Given the description of an element on the screen output the (x, y) to click on. 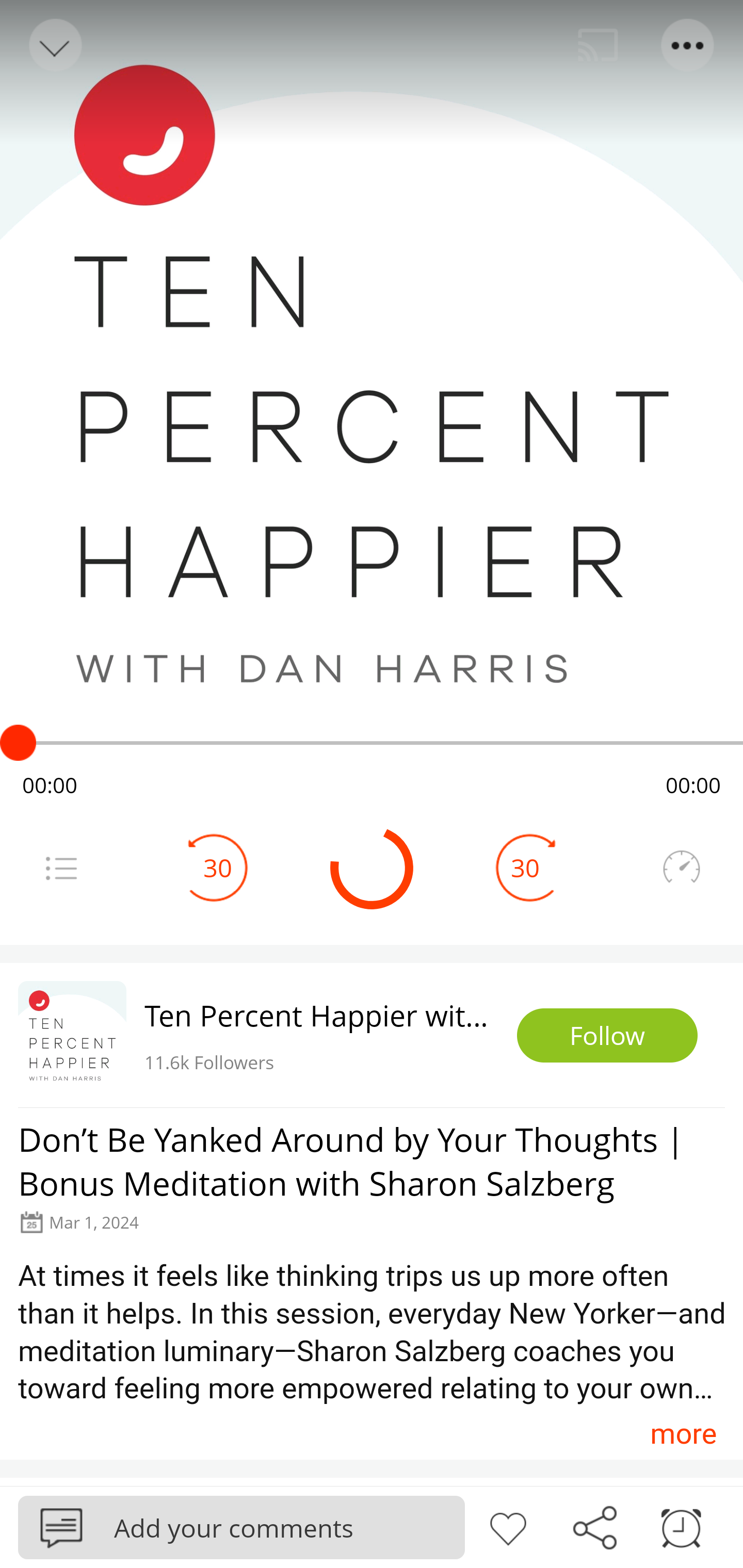
Back (53, 45)
Cast. Disconnected (597, 45)
Menu (688, 45)
30 Seek Backward (217, 867)
30 Seek Forward (525, 867)
Menu (60, 867)
Speedometer (681, 867)
Follow (607, 1035)
more (682, 1432)
Like (508, 1526)
Share (594, 1526)
Sleep timer (681, 1526)
Podbean Add your comments (241, 1526)
